Given the description of an element on the screen output the (x, y) to click on. 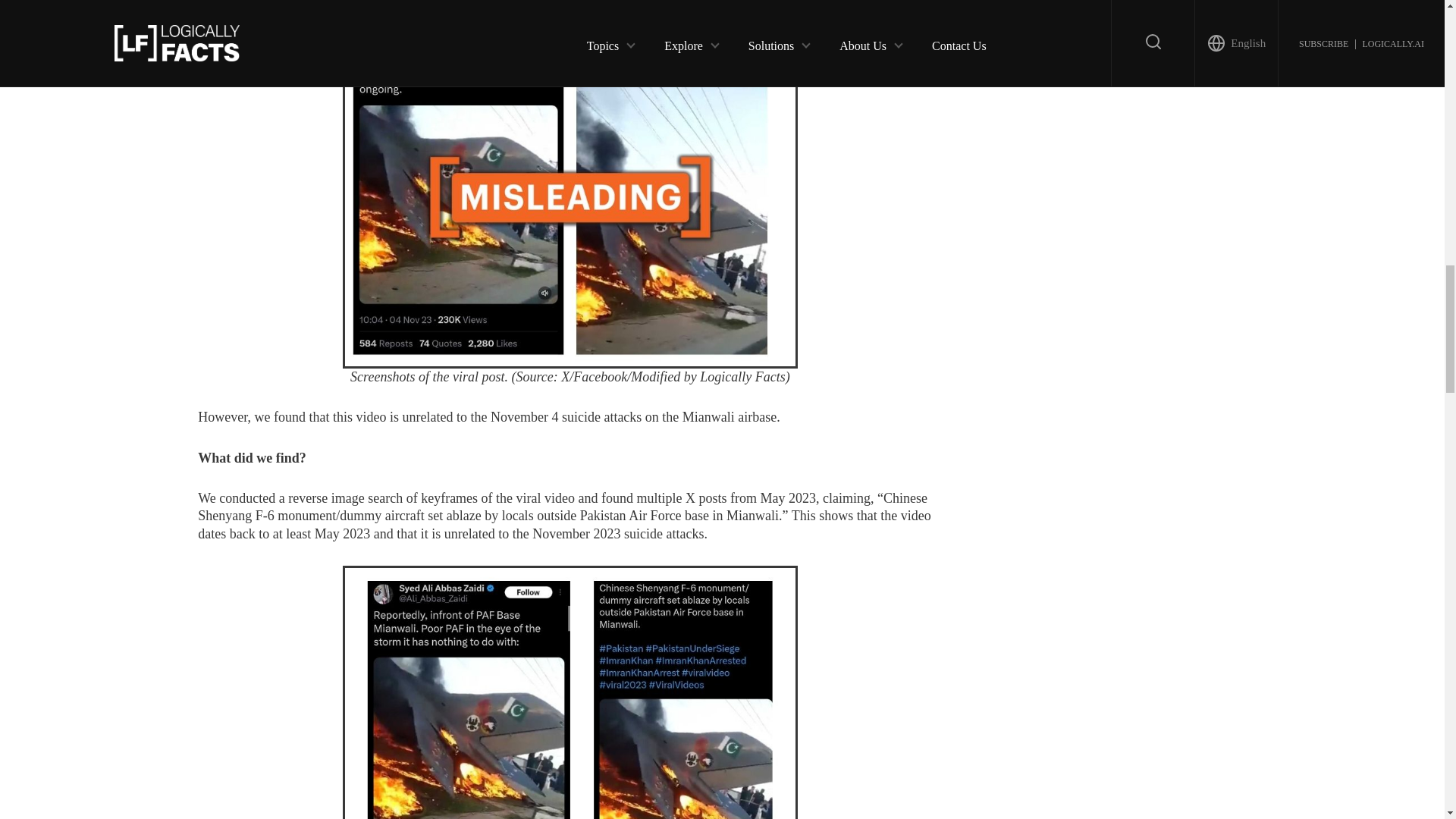
here (244, 0)
